Given the description of an element on the screen output the (x, y) to click on. 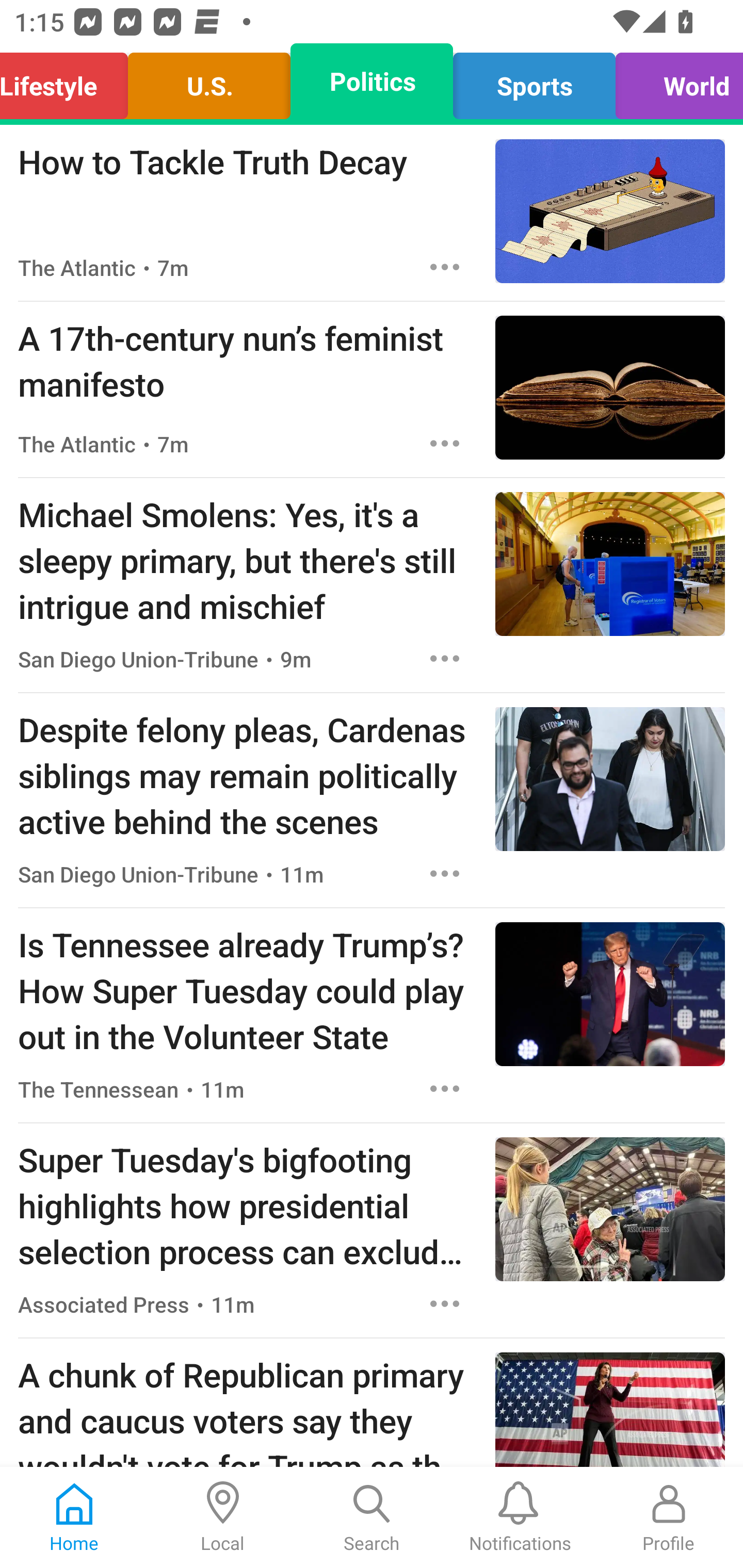
Lifestyle (69, 81)
U.S. (209, 81)
Politics (371, 81)
Sports (534, 81)
World (673, 81)
Options (444, 267)
Options (444, 443)
Options (444, 658)
Options (444, 873)
Options (444, 1088)
Options (444, 1303)
Local (222, 1517)
Search (371, 1517)
Notifications (519, 1517)
Profile (668, 1517)
